Given the description of an element on the screen output the (x, y) to click on. 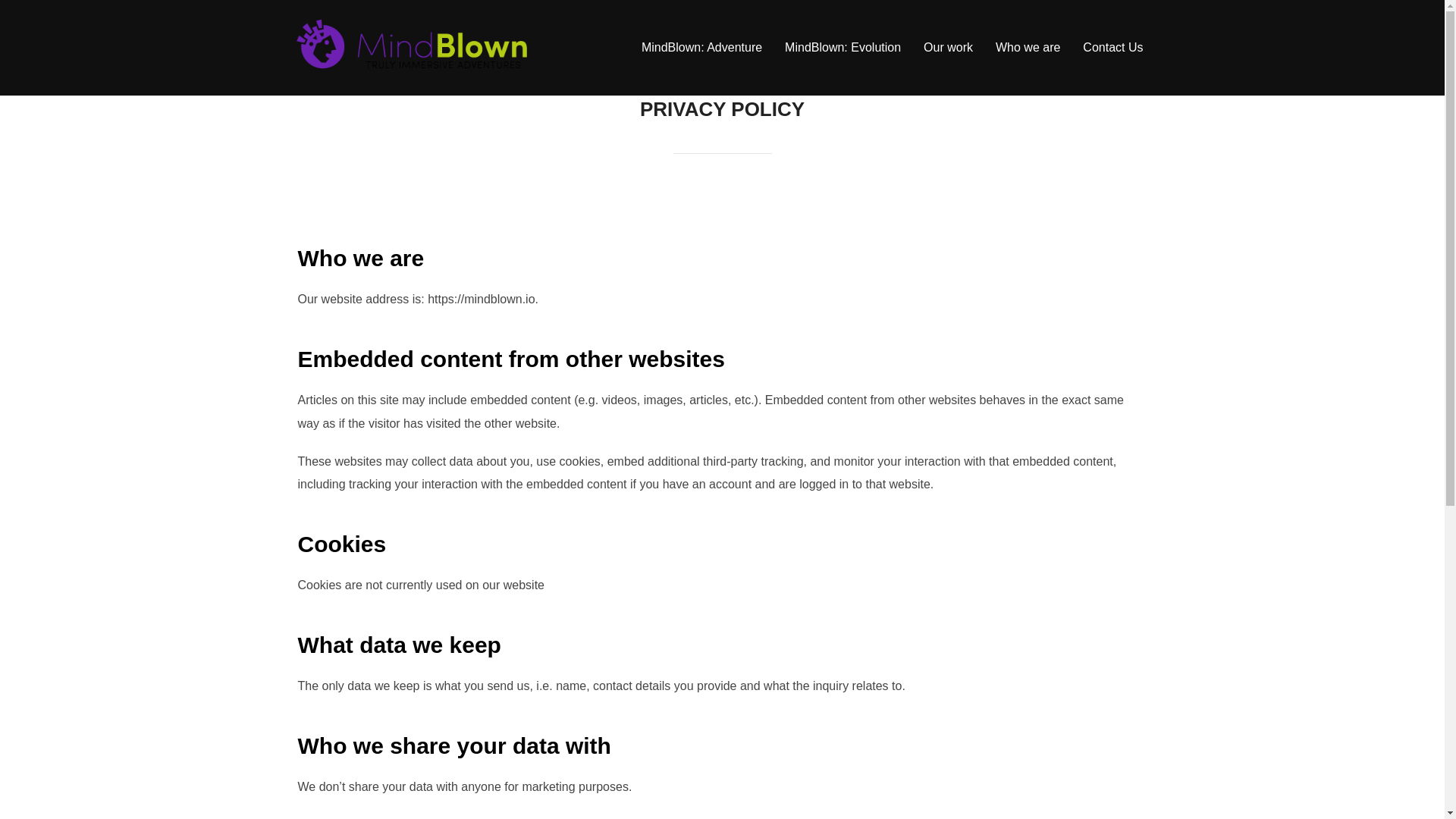
Who we are (1027, 47)
MindBlown: Evolution (842, 47)
Contact Us (1112, 47)
Our work (947, 47)
MindBlown: Adventure (701, 47)
